Given the description of an element on the screen output the (x, y) to click on. 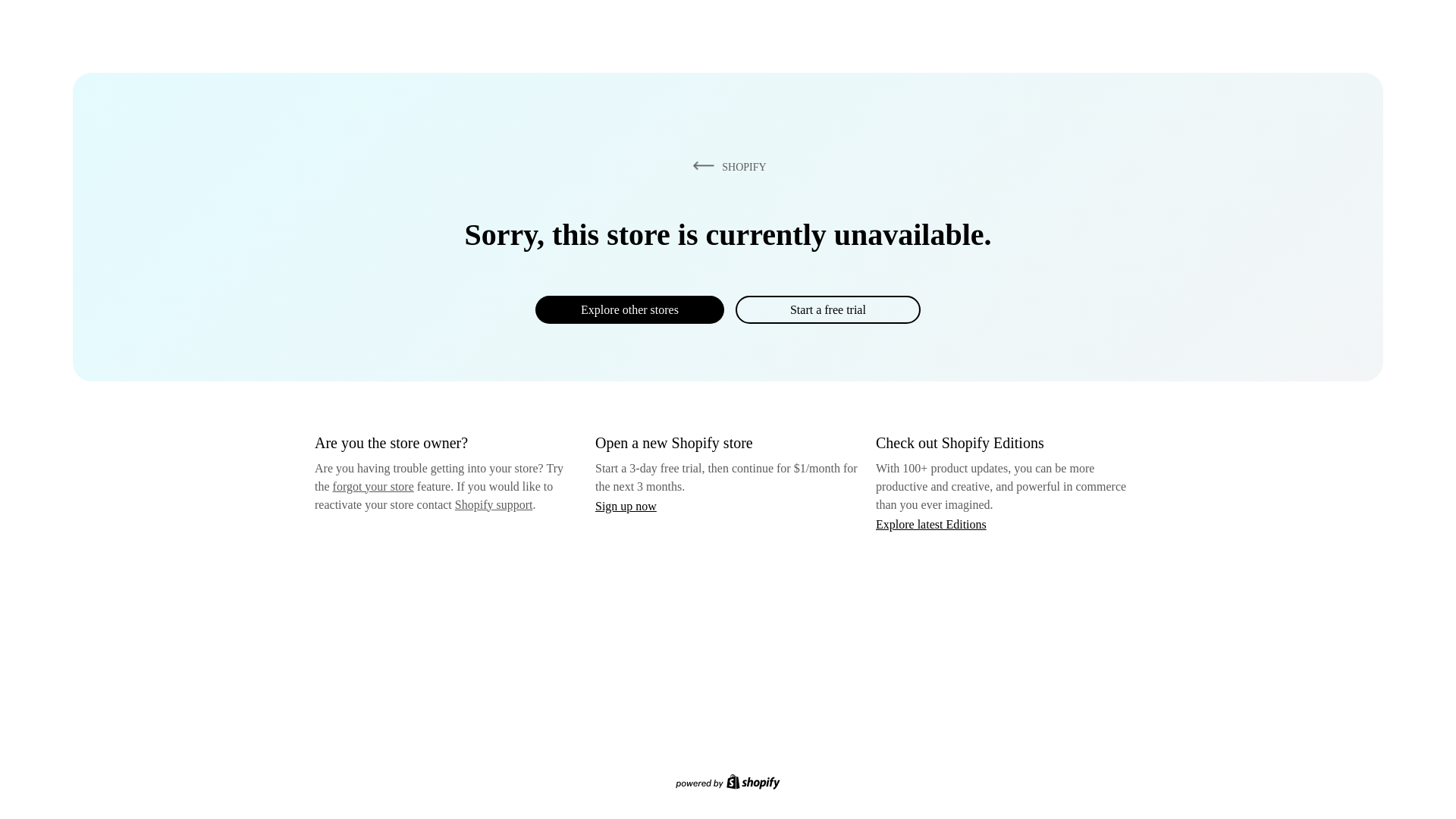
forgot your store (373, 486)
Start a free trial (827, 309)
Explore latest Editions (931, 523)
Sign up now (625, 505)
Explore other stores (629, 309)
SHOPIFY (726, 166)
Shopify support (493, 504)
